Given the description of an element on the screen output the (x, y) to click on. 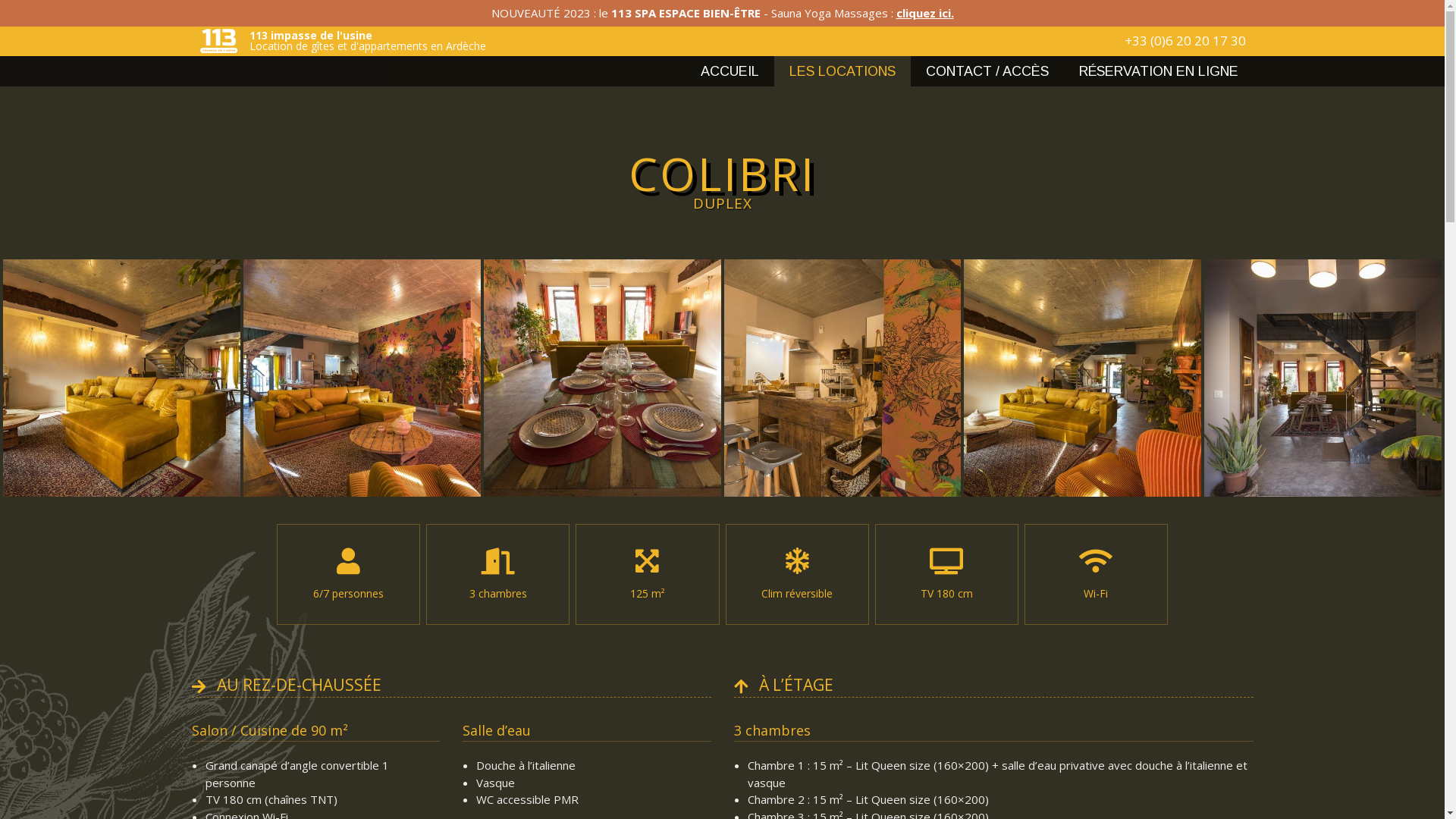
LES LOCATIONS Element type: text (841, 71)
Appartement Duplex Colibri Element type: hover (1082, 264)
Appartement Duplex Colibri Element type: hover (602, 264)
Appartement Duplex Colibri Element type: hover (1322, 264)
cliquez ici. Element type: text (924, 12)
Appartement Duplex Colibri Element type: hover (361, 264)
Appartement Duplex Colibri Element type: hover (841, 264)
Appartement Duplex Colibri Element type: hover (121, 264)
ACCUEIL Element type: text (729, 71)
